Given the description of an element on the screen output the (x, y) to click on. 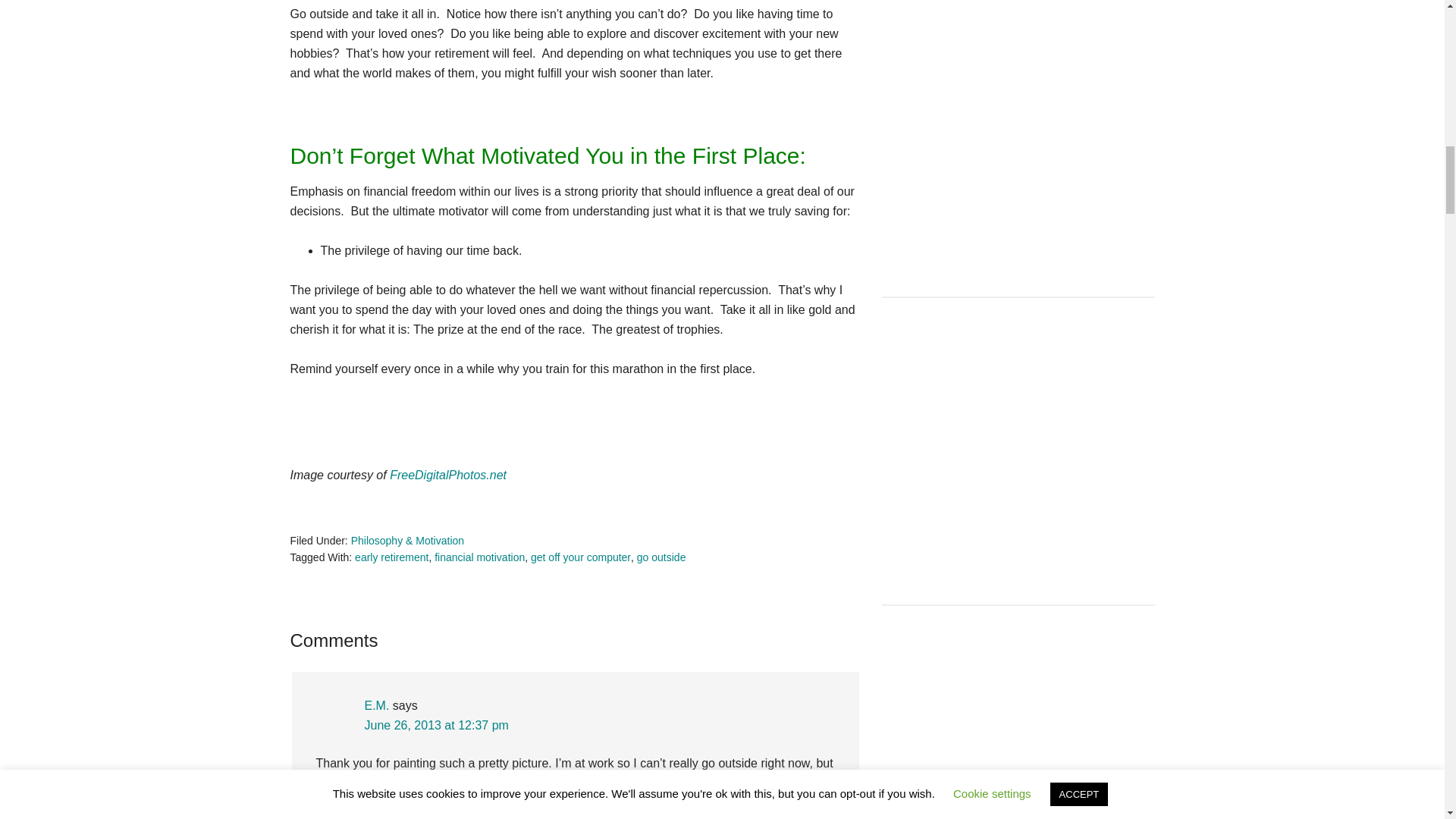
get off your computer (580, 557)
FreeDigitalPhotos.net (448, 474)
early retirement (391, 557)
financial motivation (478, 557)
